Given the description of an element on the screen output the (x, y) to click on. 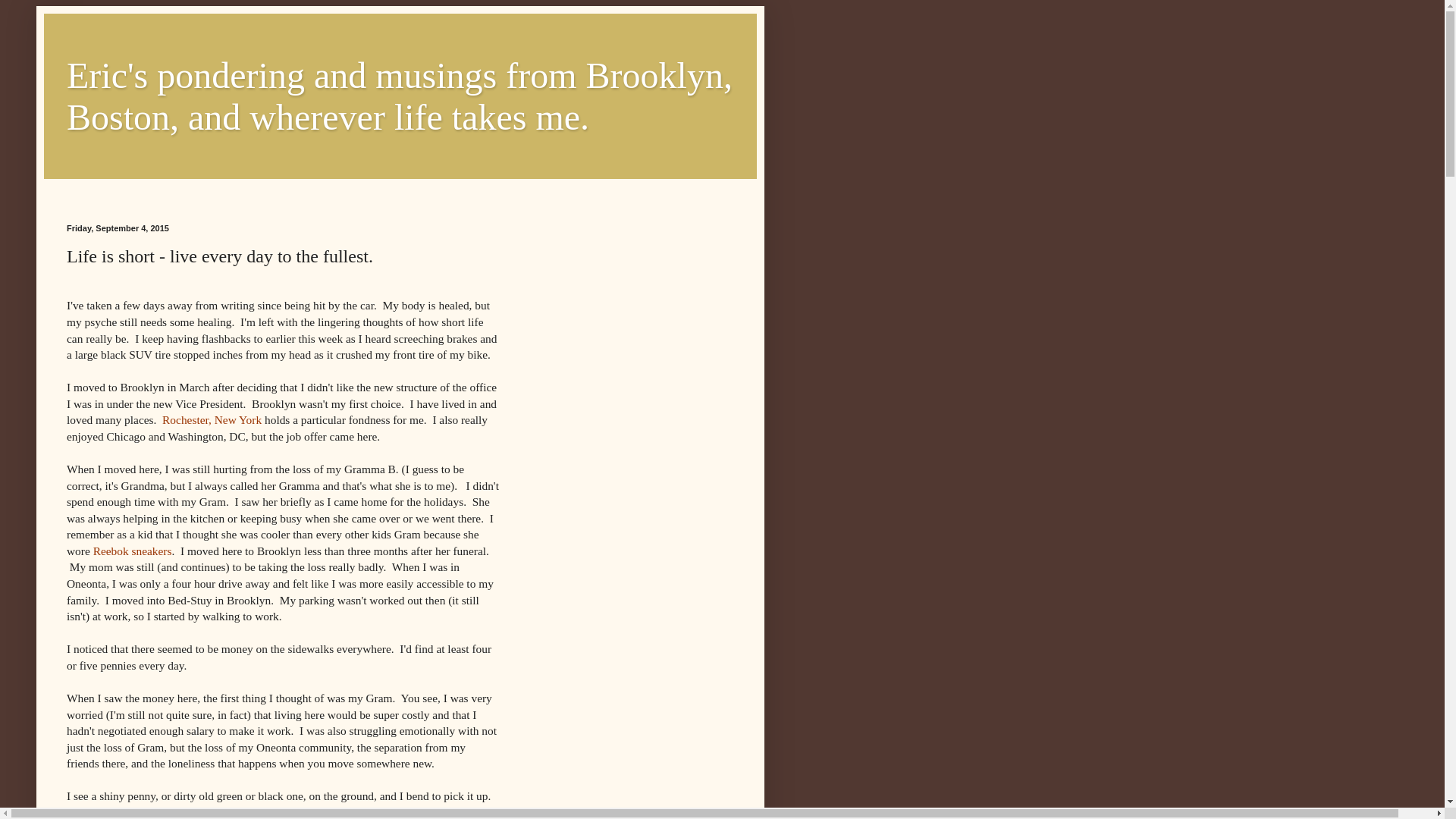
Rochester, New York (211, 419)
Reebok sneakers (132, 550)
